Given the description of an element on the screen output the (x, y) to click on. 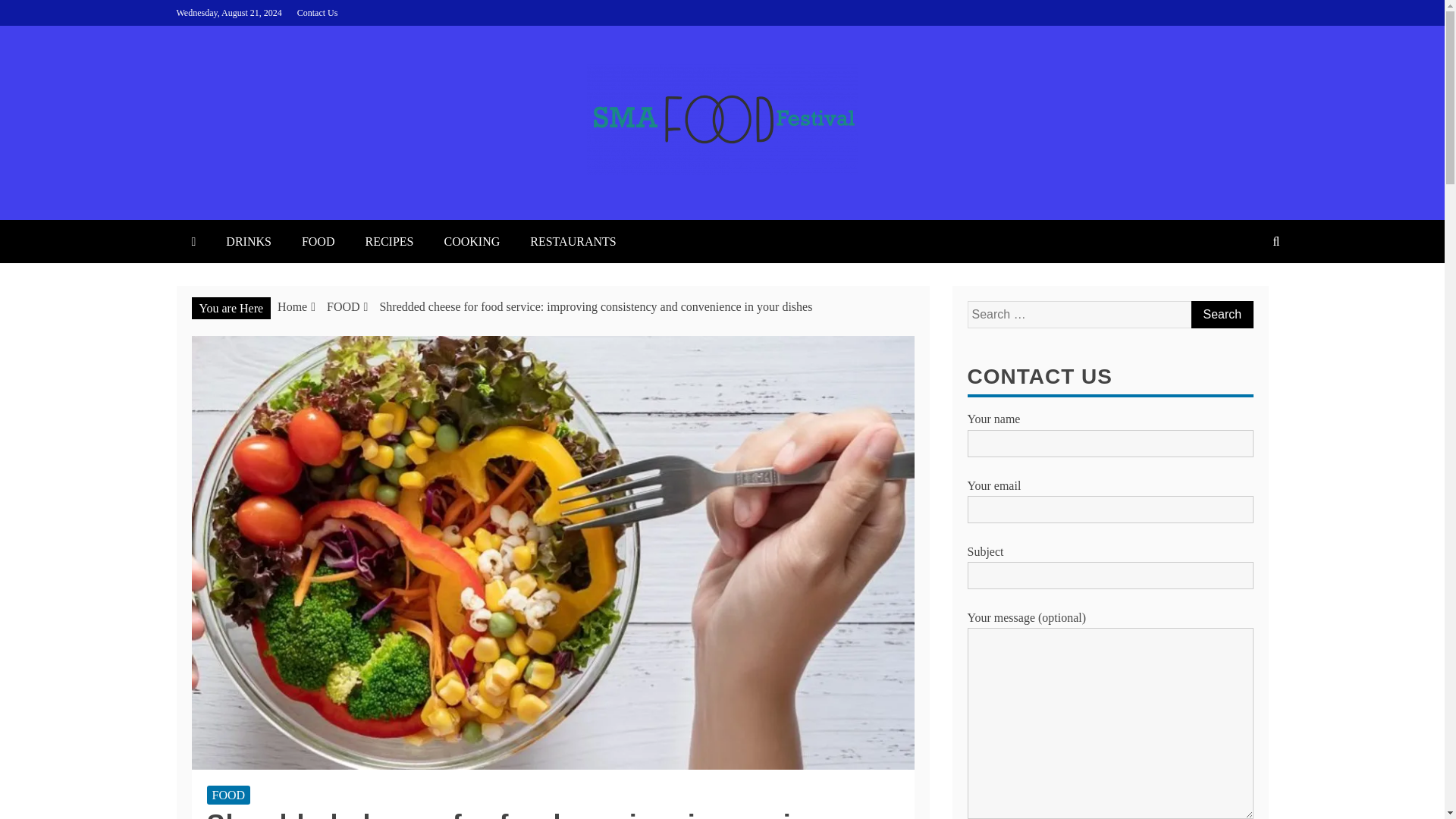
RESTAURANTS (572, 241)
FOOD (342, 306)
Search (1221, 314)
Search (1221, 314)
Home (292, 306)
RECIPES (388, 241)
COOKING (471, 241)
Search (1221, 314)
FOOD (318, 241)
SMA FOOD FESTIVAL (379, 204)
